Given the description of an element on the screen output the (x, y) to click on. 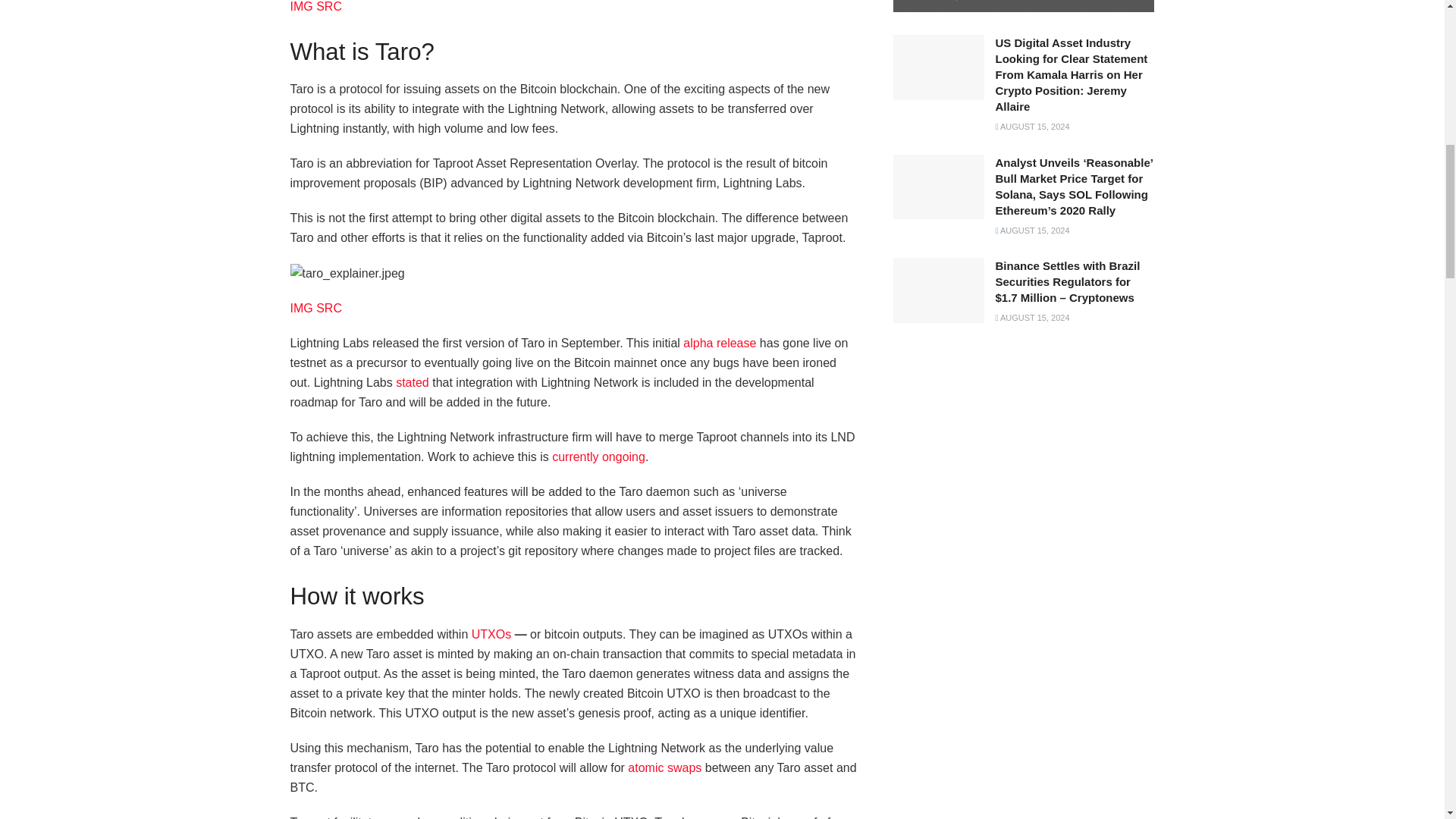
IMG SRC (314, 6)
alpha release (718, 342)
IMG SRC (314, 308)
